Given the description of an element on the screen output the (x, y) to click on. 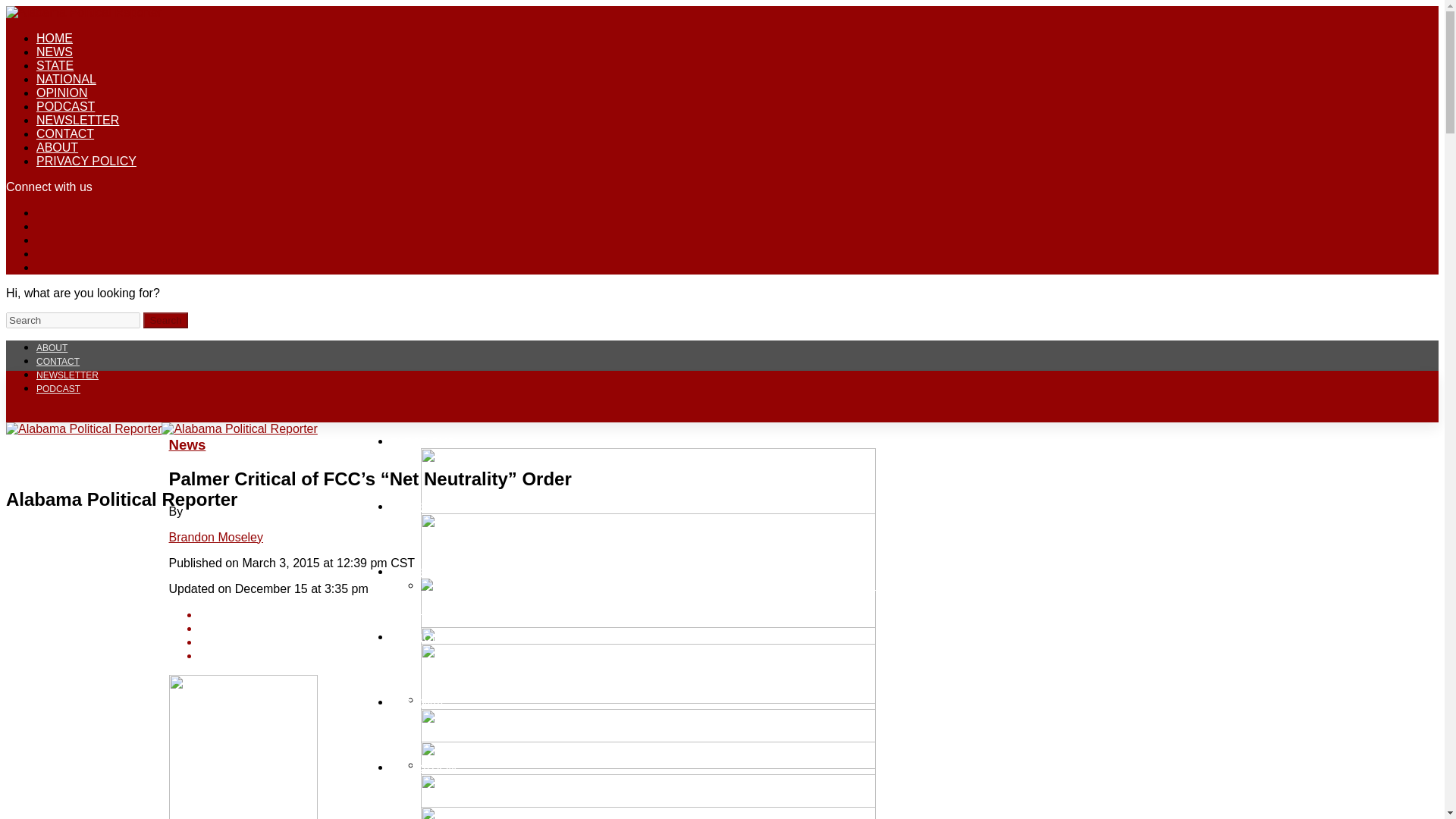
Share on Facebook (736, 614)
CONTACT (65, 133)
ABOUT (51, 347)
Share on Flipboard (736, 642)
NEWSLETTER (77, 119)
HOME (54, 38)
PODCAST (58, 388)
GOVERNOR (423, 505)
PRIVACY POLICY (86, 160)
Tweet This Post (736, 628)
